Given the description of an element on the screen output the (x, y) to click on. 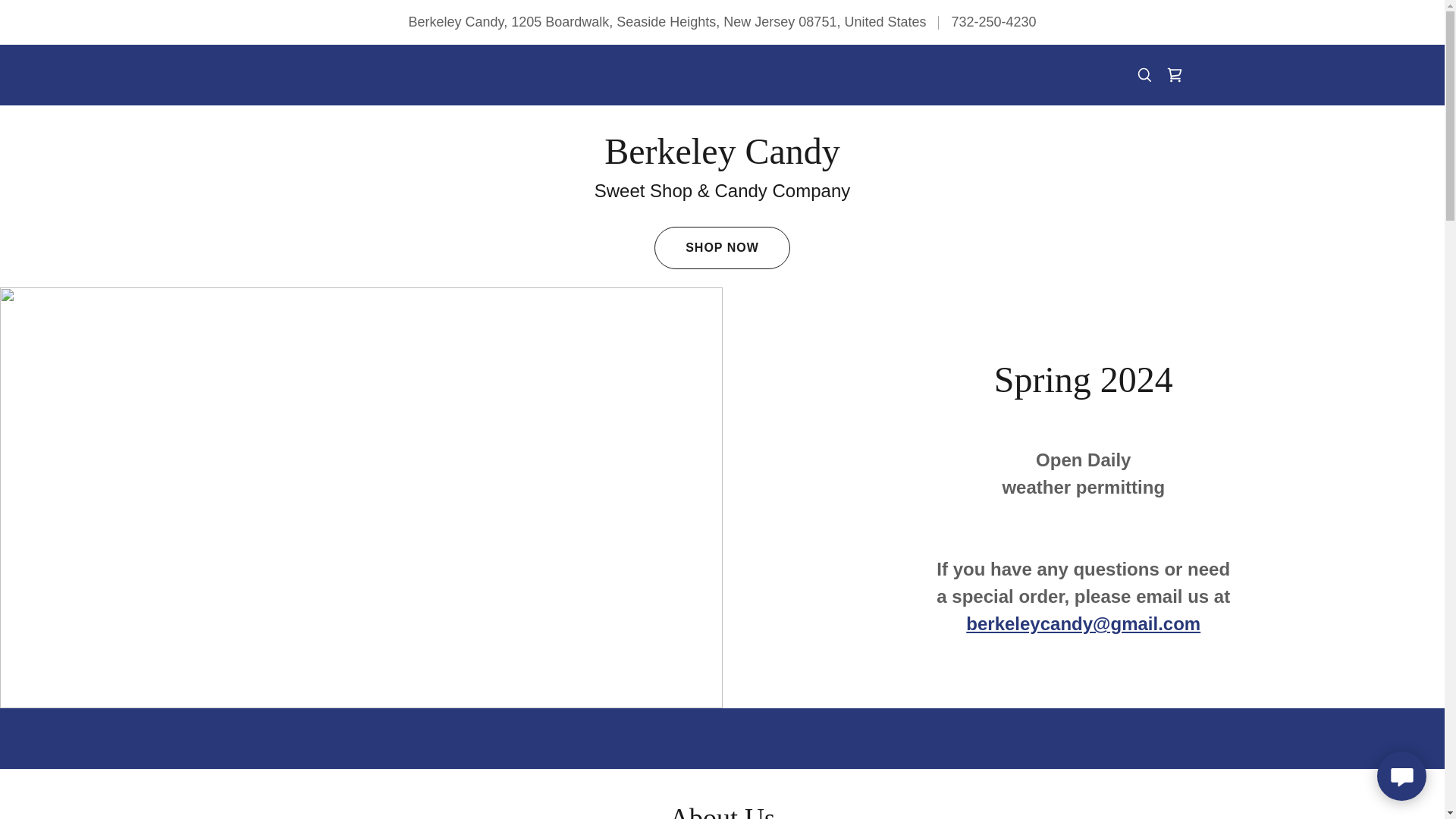
SHOP NOW (721, 247)
732-250-4230 (992, 21)
Berkeley Candy (722, 159)
Berkeley Candy (722, 159)
